Given the description of an element on the screen output the (x, y) to click on. 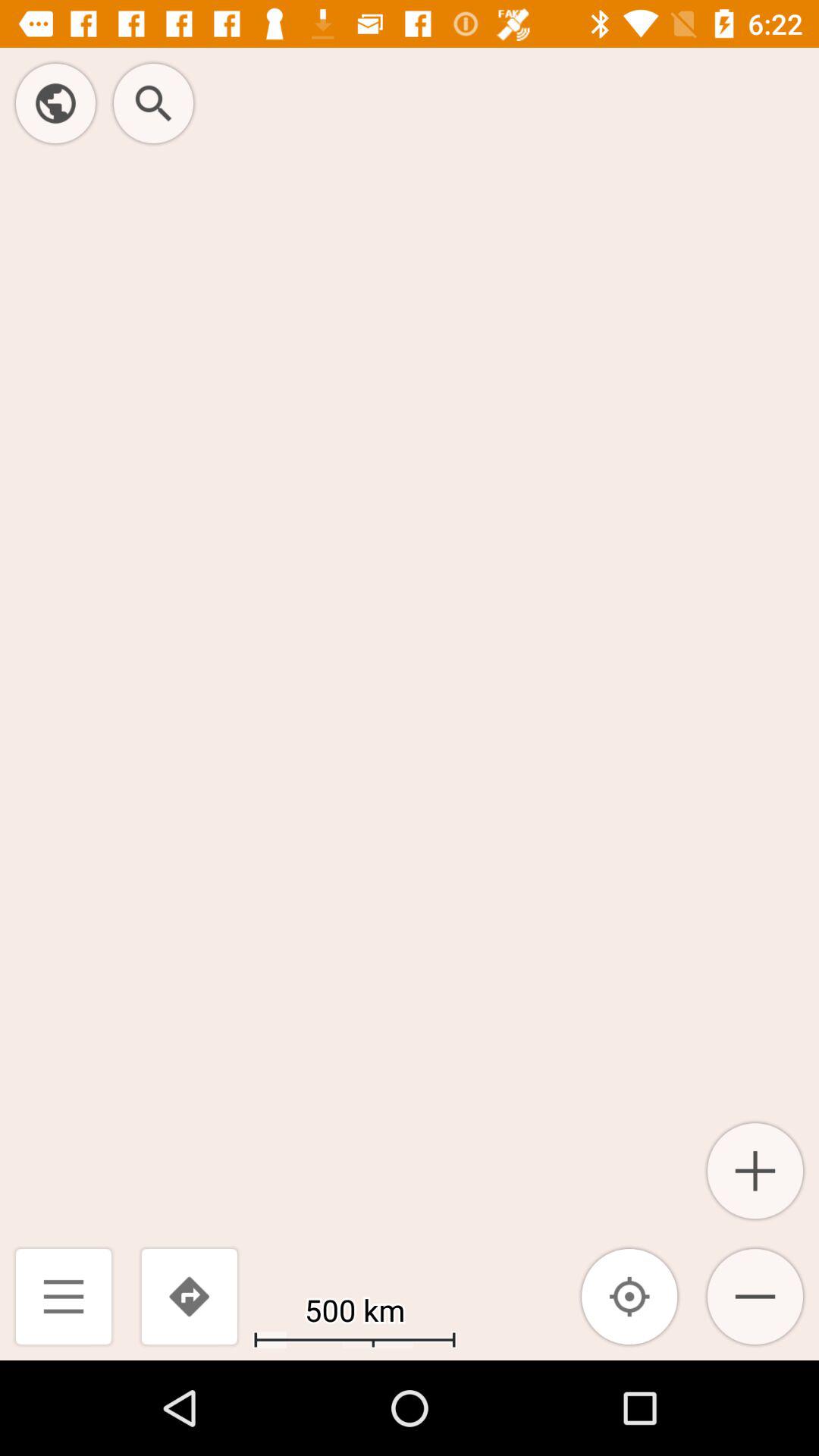
tap the item next to the 500 km (629, 1296)
